Given the description of an element on the screen output the (x, y) to click on. 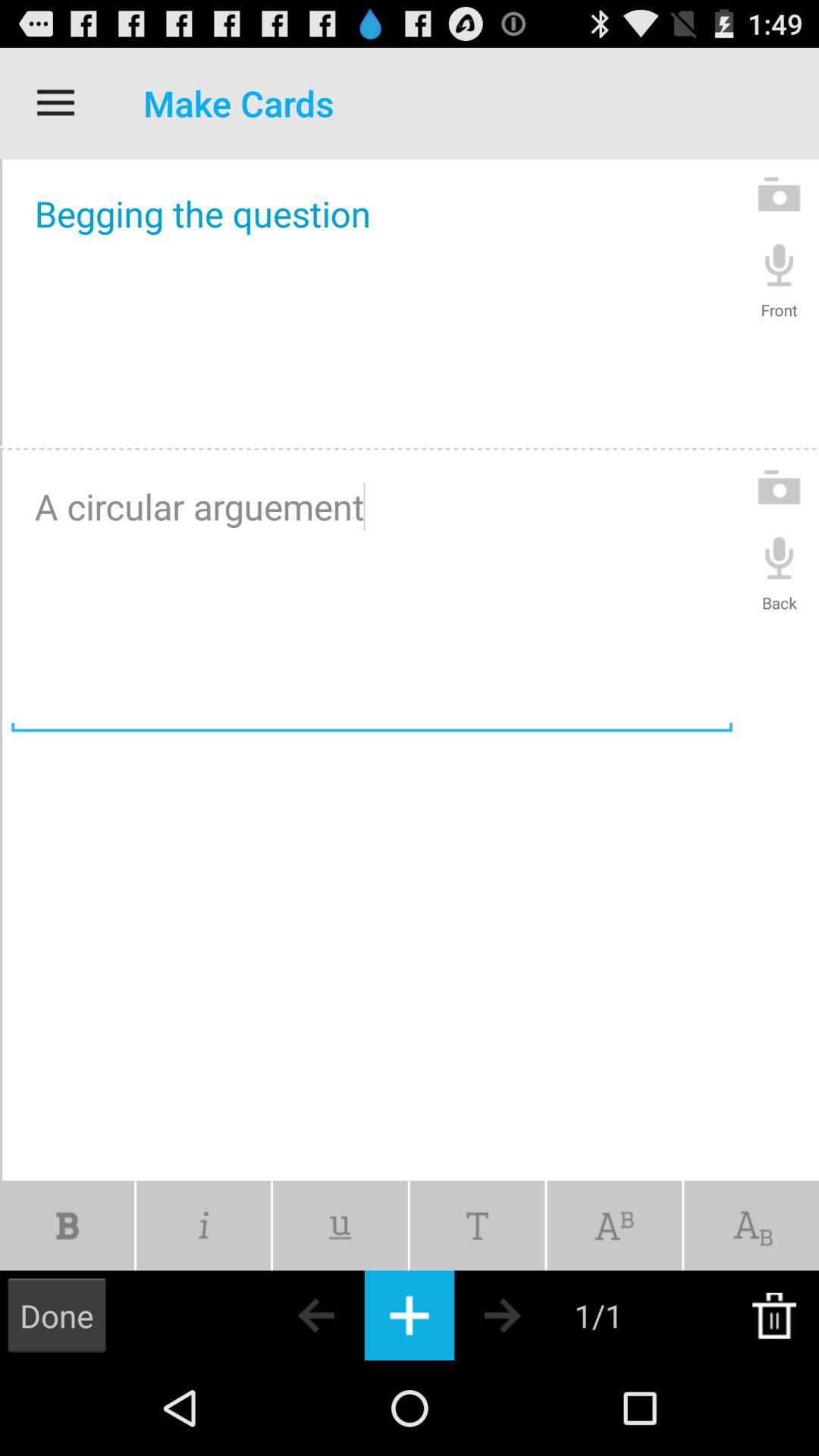
swipe to a circular arguement item (371, 595)
